Given the description of an element on the screen output the (x, y) to click on. 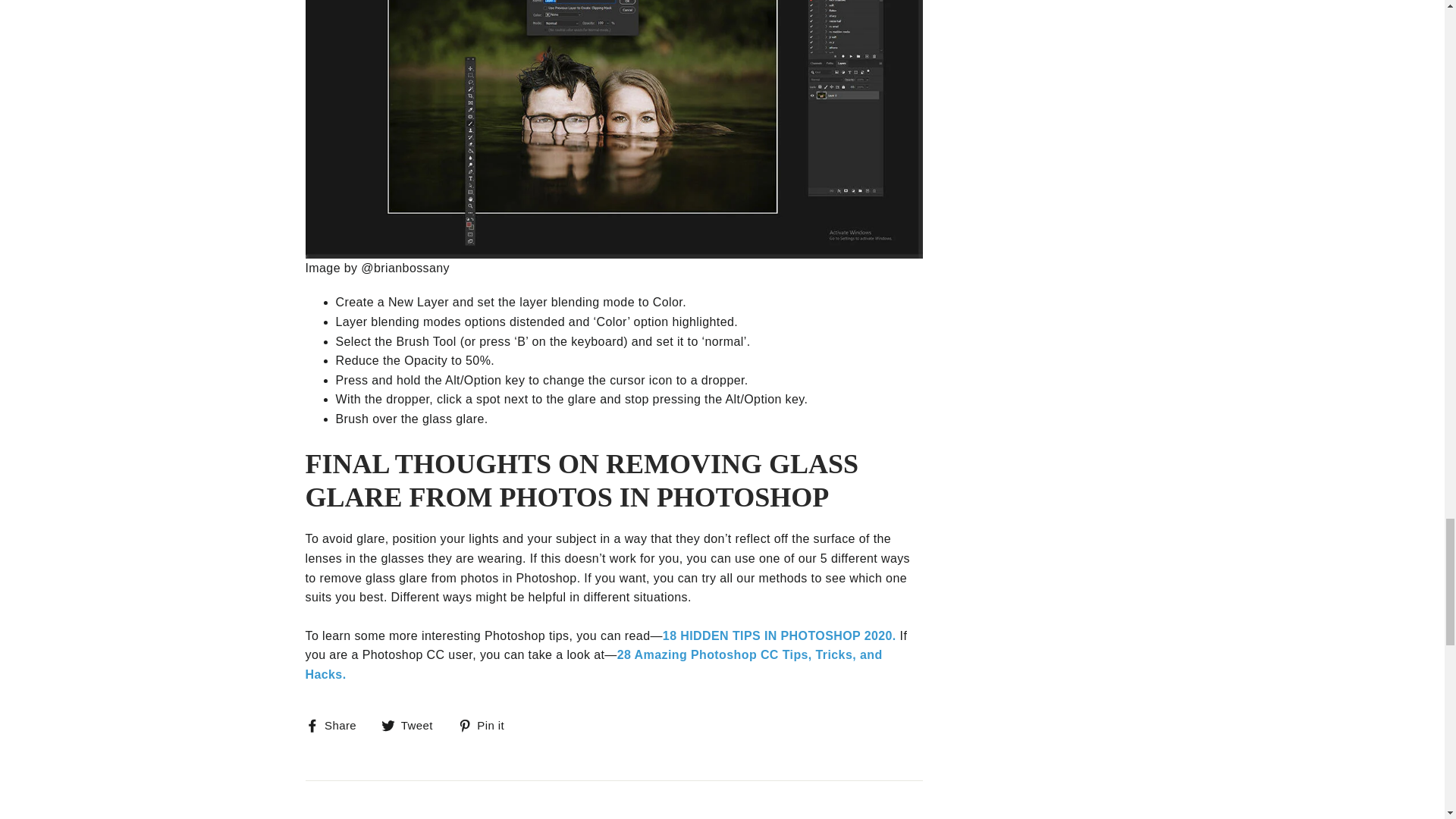
Pin on Pinterest (486, 724)
Tweet on Twitter (412, 724)
Share on Facebook (336, 724)
